Given the description of an element on the screen output the (x, y) to click on. 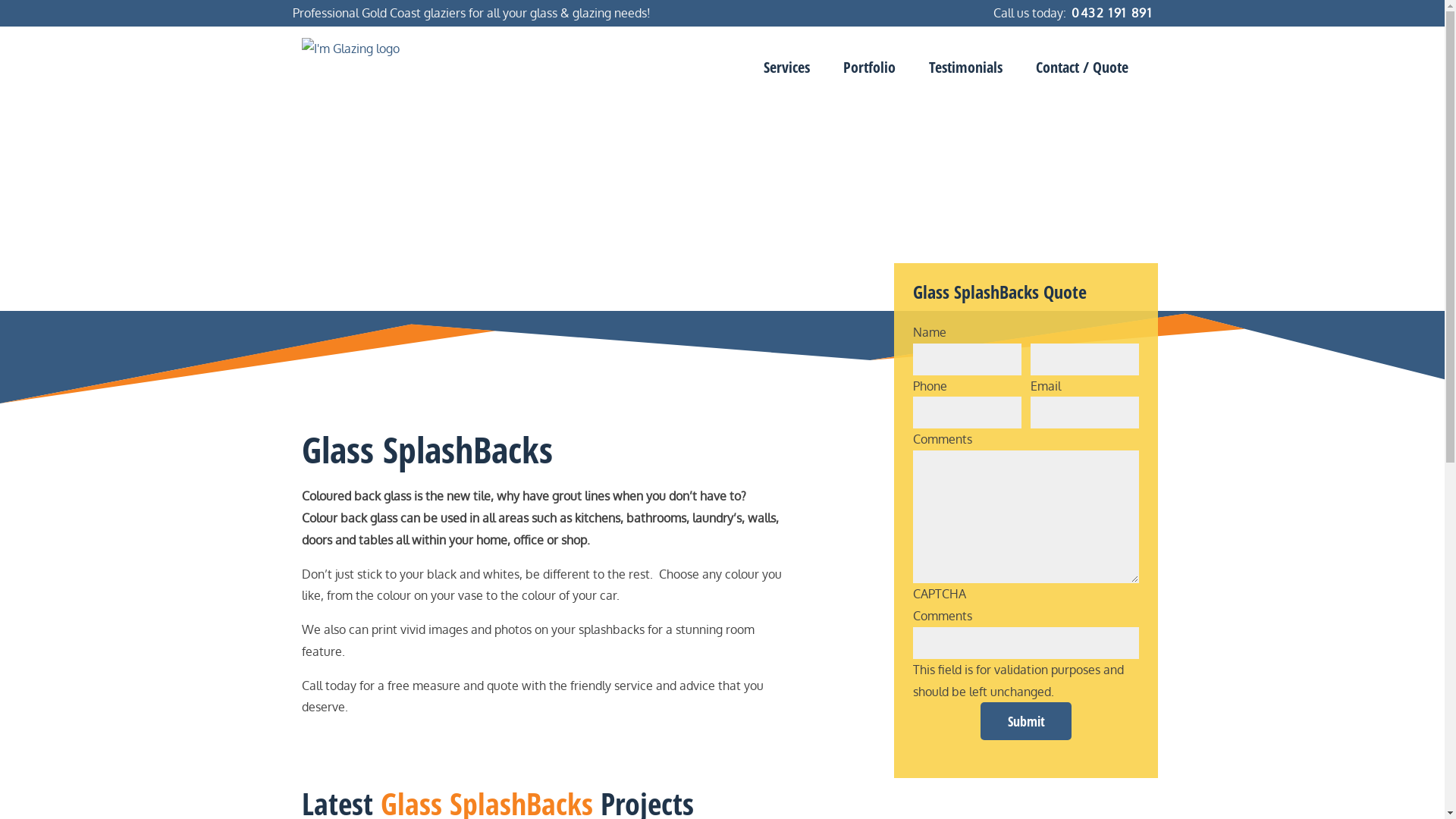
Portfolio Element type: text (869, 67)
Services Element type: text (785, 67)
I'm Glazing homepage Element type: hover (377, 48)
Contact / Quote Element type: text (1081, 67)
Testimonials Element type: text (964, 67)
Submit Element type: text (1025, 721)
MENU Element type: text (1432, 38)
0432 191 891 Element type: text (1110, 12)
